Given the description of an element on the screen output the (x, y) to click on. 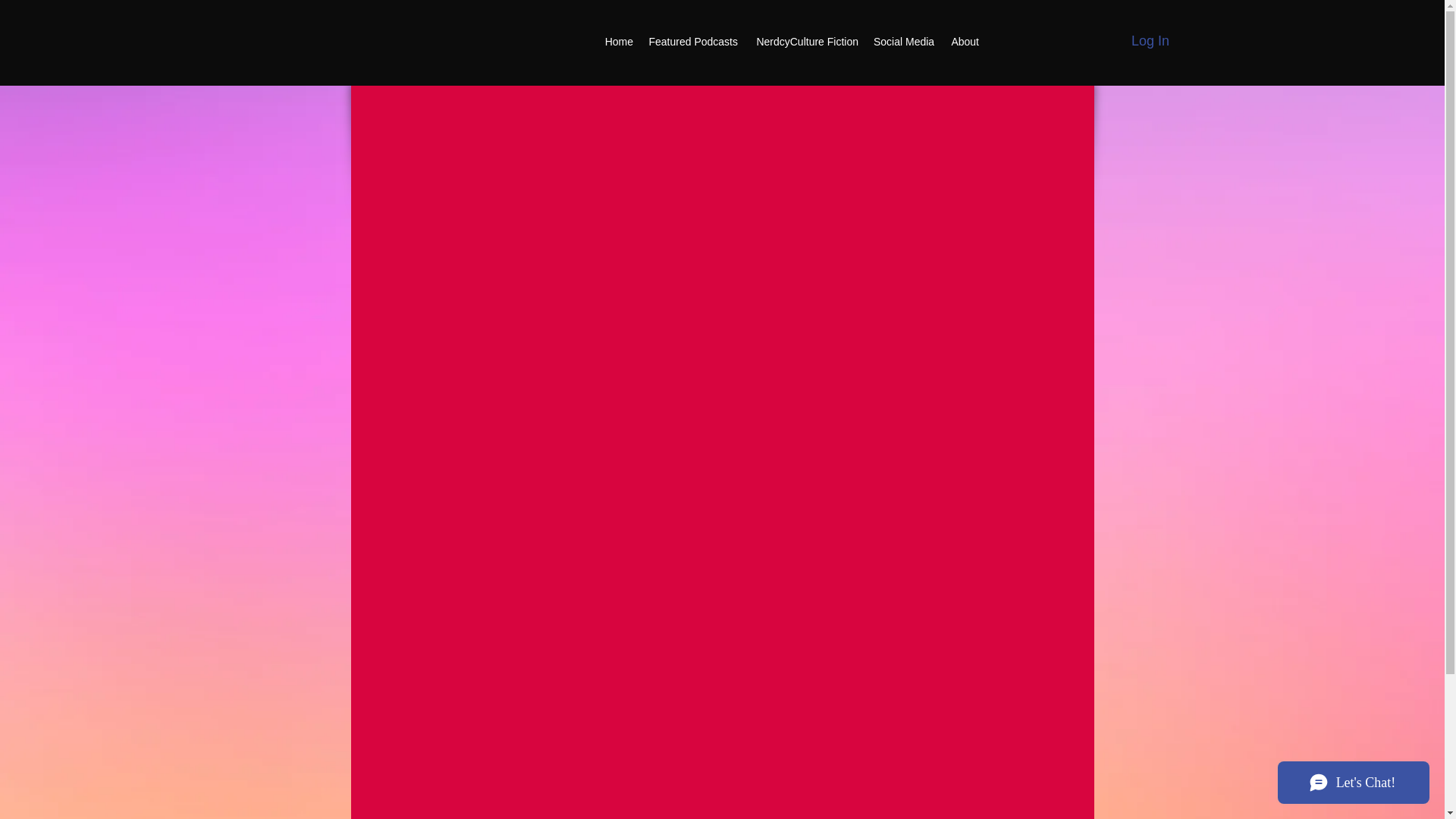
Log In (1150, 41)
Social Media (903, 41)
NerdcyCulture Fiction (805, 41)
About (963, 41)
Home (618, 41)
